Given the description of an element on the screen output the (x, y) to click on. 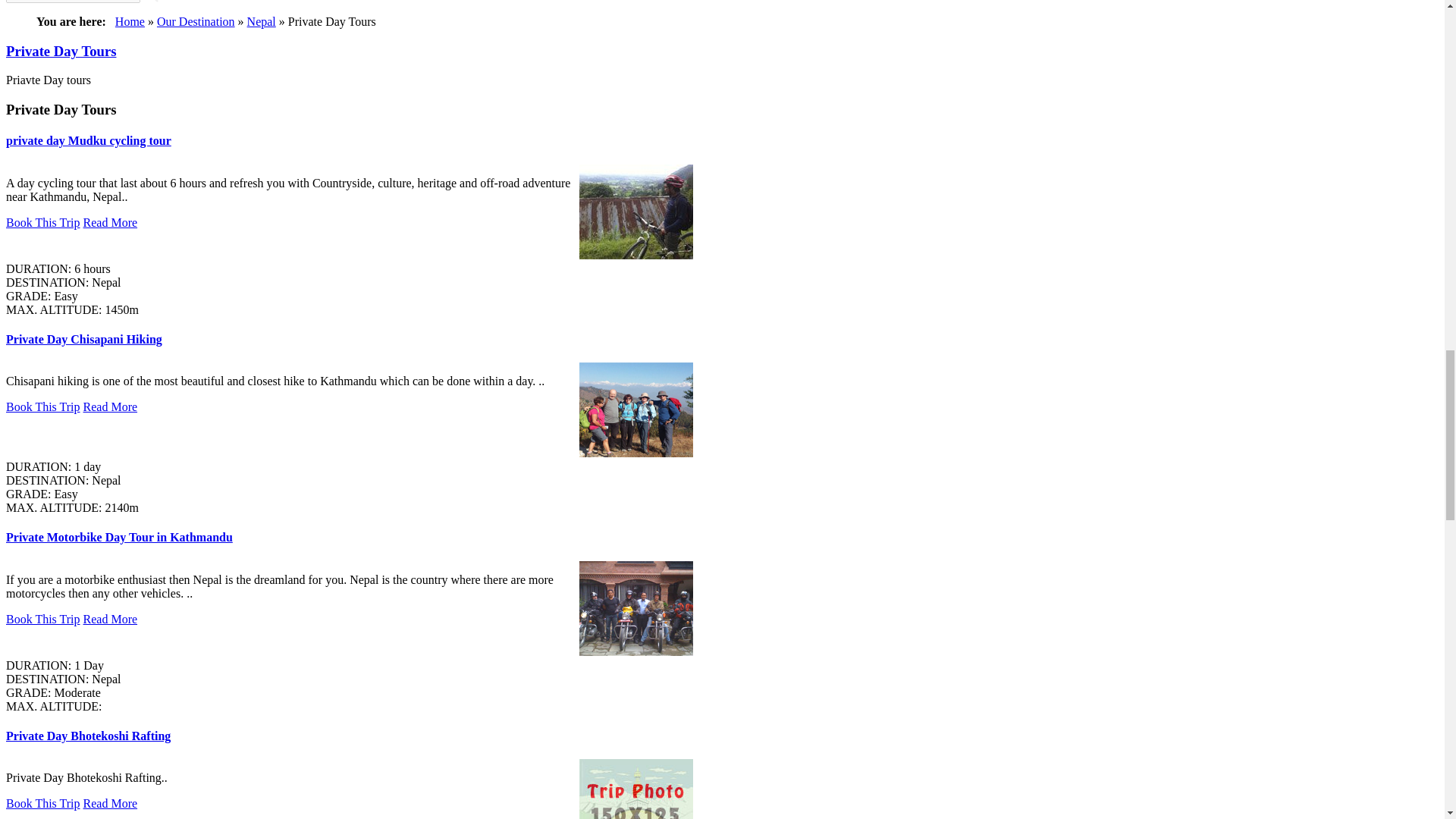
Search (72, 1)
